Given the description of an element on the screen output the (x, y) to click on. 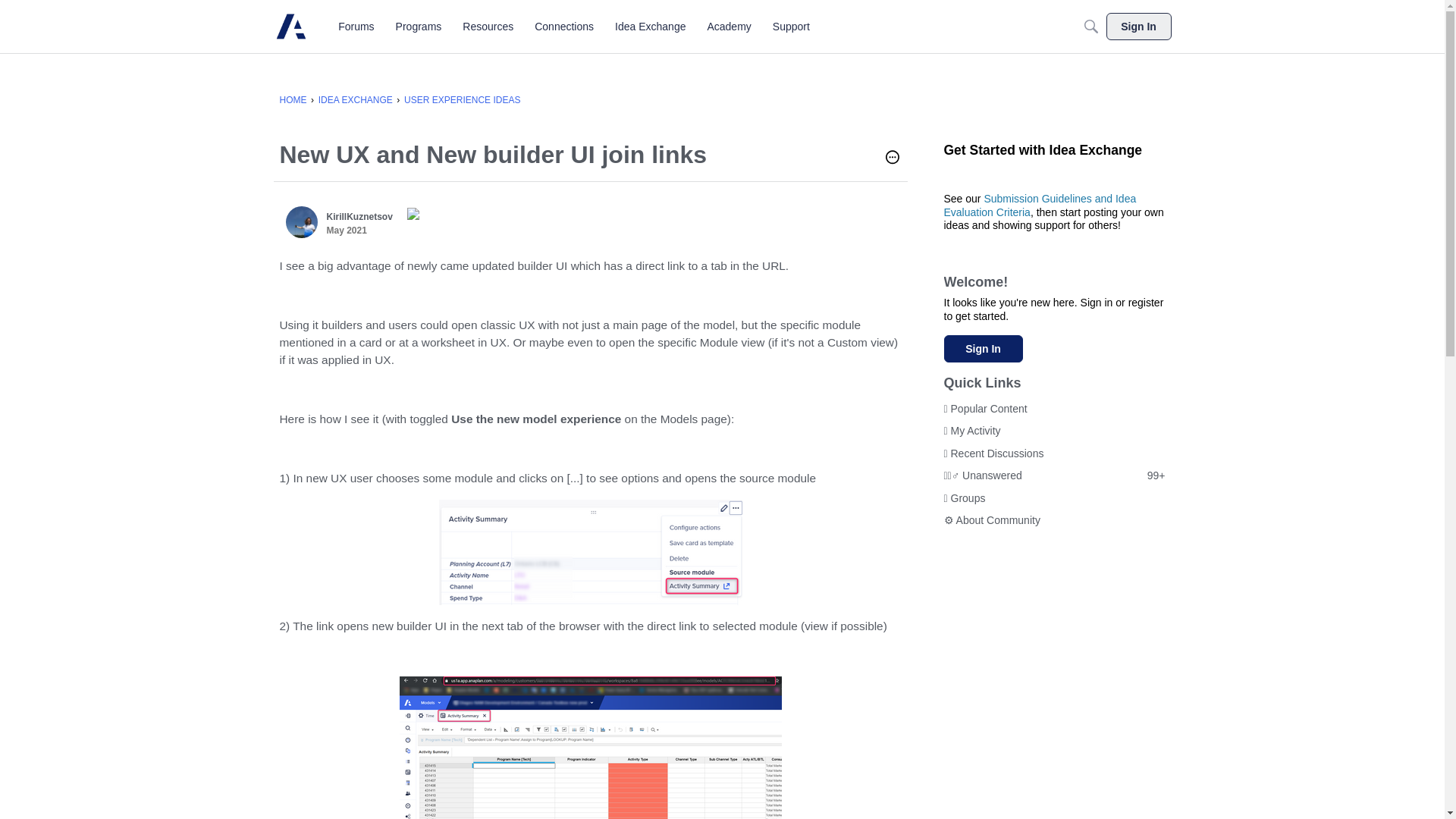
Idea Exchange (649, 26)
May 12, 2021 1:36AM (346, 230)
USER EXPERIENCE IDEAS (461, 100)
KirillKuznetsov (358, 216)
Sign In (982, 348)
Academy (728, 26)
Resources (488, 26)
KirillKuznetsov (301, 222)
Support (791, 26)
IDEA EXCHANGE (355, 100)
May 2021 (346, 230)
Certified Master Anaplanner (408, 214)
Submission Guidelines and Idea Evaluation Criteria (1039, 205)
Forums (355, 26)
